Given the description of an element on the screen output the (x, y) to click on. 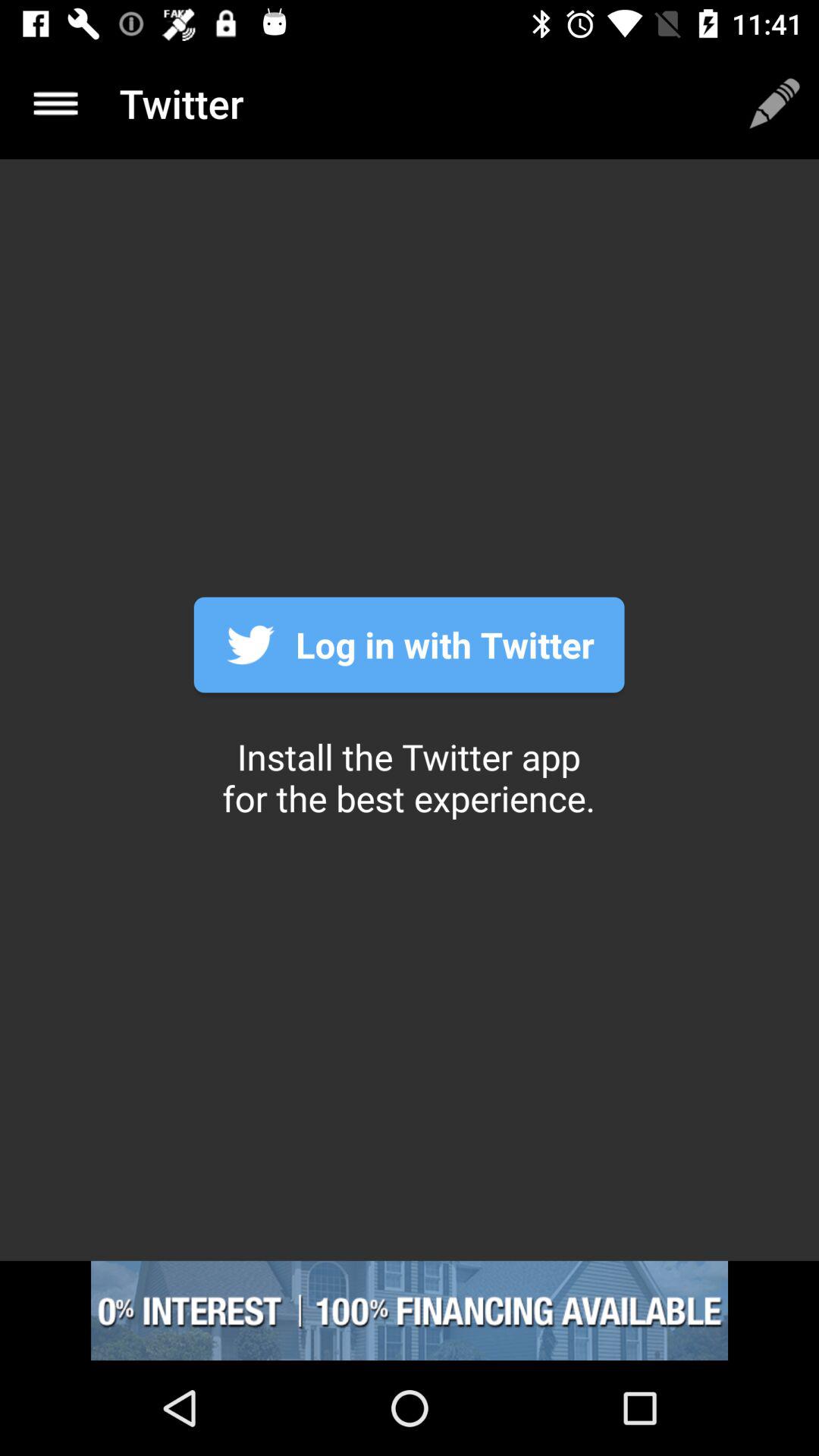
advertisement (409, 1310)
